Given the description of an element on the screen output the (x, y) to click on. 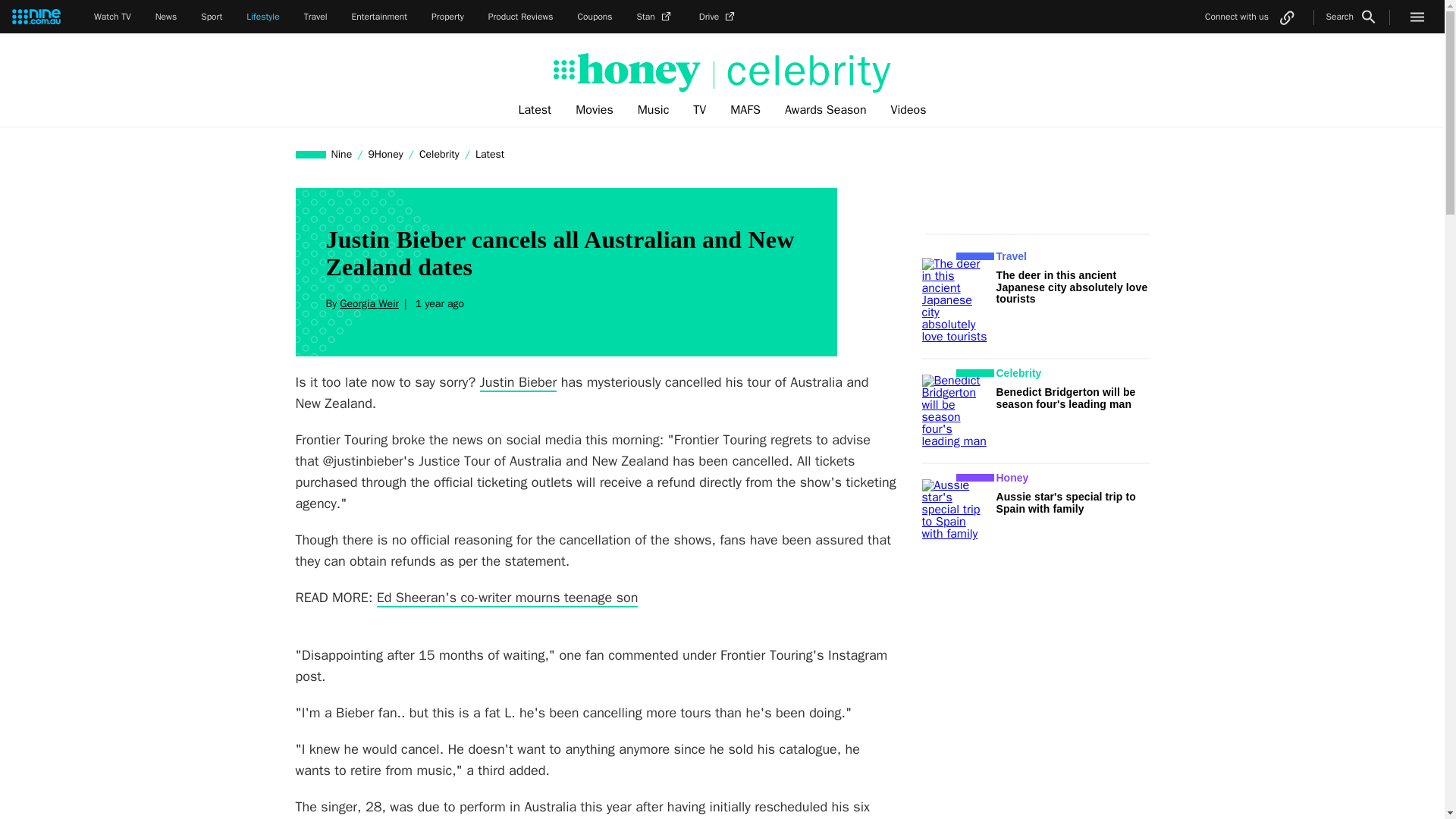
Videos (909, 109)
Georgia Weir (368, 303)
Entertainment (379, 16)
Justin Bieber (518, 382)
Product Reviews (520, 16)
Drive (718, 16)
2023-02-28 22:48 (437, 303)
Justin Bieber (518, 382)
Lifestyle (262, 16)
Movies (594, 109)
TV (699, 109)
Ed Sheeran's co-writer mourns teenage son (508, 597)
Coupons (595, 16)
Music (653, 109)
Latest (489, 154)
